Given the description of an element on the screen output the (x, y) to click on. 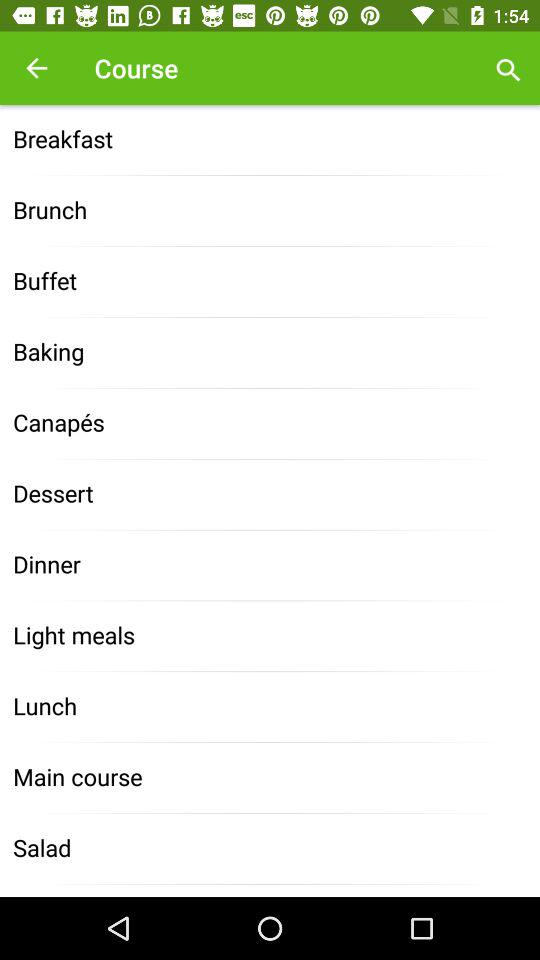
launch item below dessert item (270, 565)
